Given the description of an element on the screen output the (x, y) to click on. 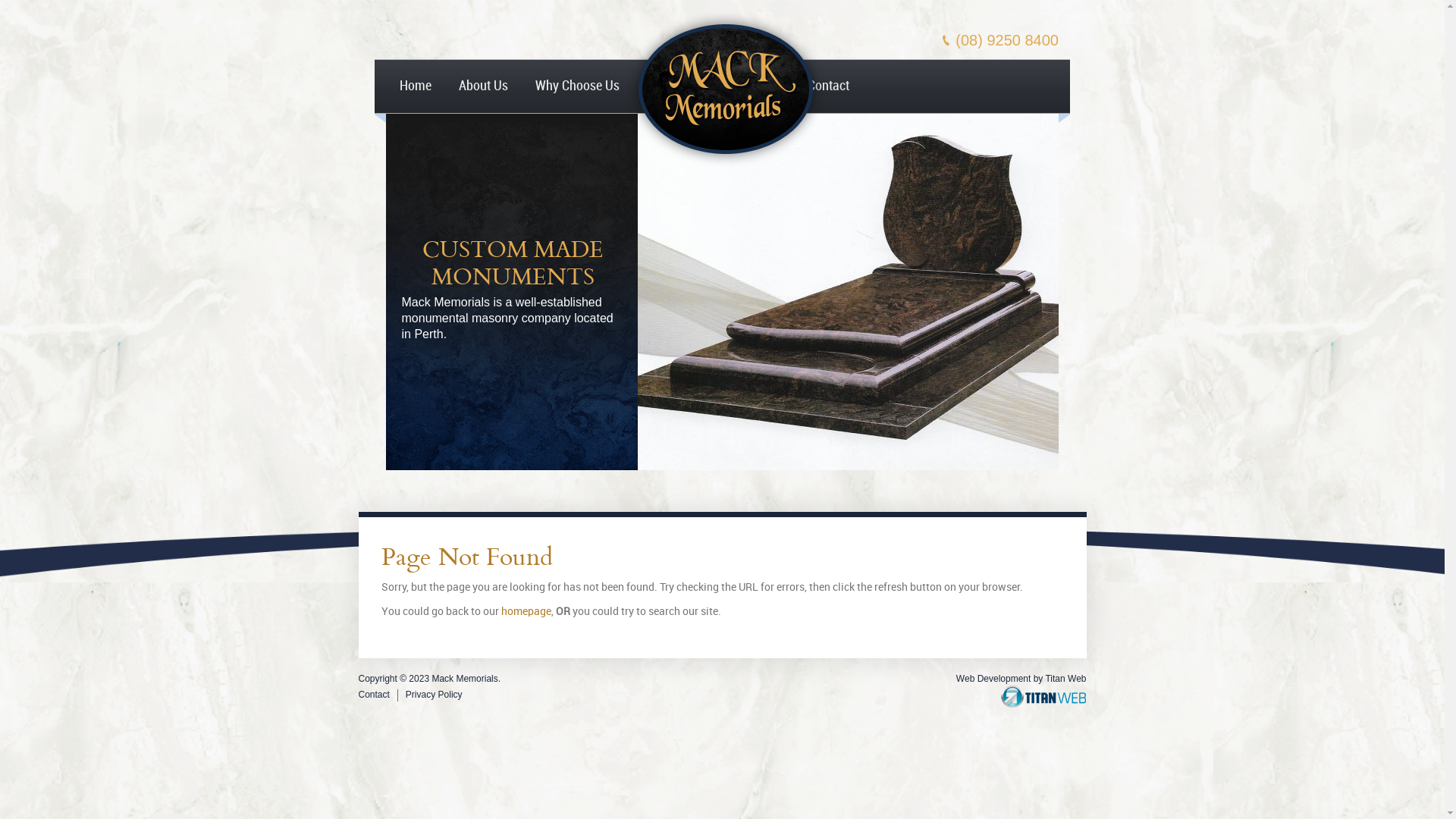
Home Element type: text (415, 86)
Why Choose Us Element type: text (577, 86)
Mack Memorials Element type: hover (724, 157)
Web Development by Titan Web Element type: text (1021, 678)
Privacy Policy Element type: text (433, 694)
homepage Element type: text (525, 611)
Gallery Element type: text (760, 86)
About Us Element type: text (483, 86)
Our Services Element type: text (680, 86)
Contact Element type: text (373, 694)
Contact Element type: text (827, 86)
MONUMENTAL STONEMASON Element type: text (512, 262)
